Given the description of an element on the screen output the (x, y) to click on. 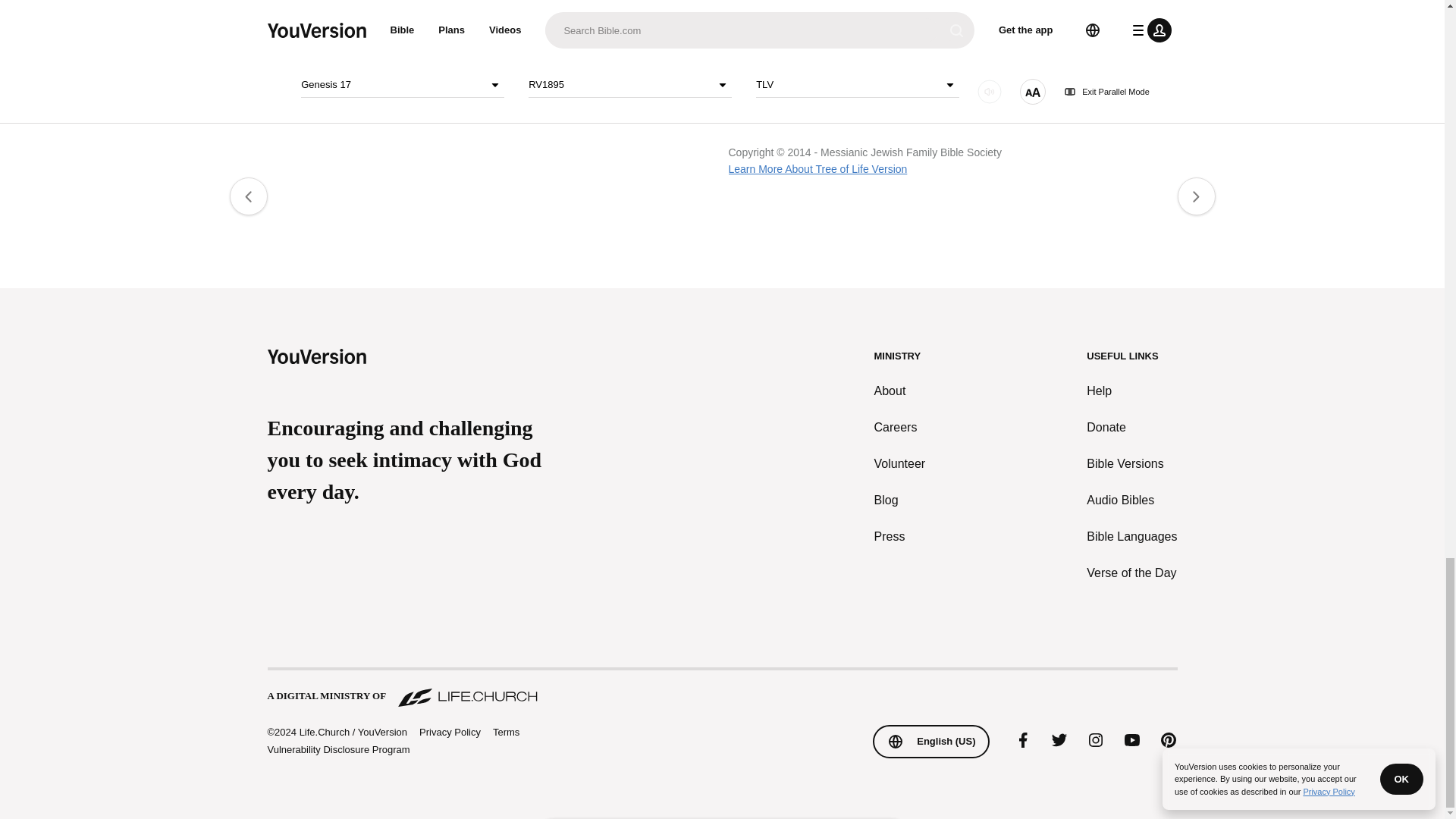
Learn More About Tree of Life Version (817, 168)
Privacy Policy (449, 732)
Verse of the Day (1131, 573)
About (900, 391)
Vulnerability Disclosure Program (337, 749)
Help (1131, 391)
Press (900, 536)
Blog (900, 500)
Bible Languages (1131, 536)
Donate (1131, 427)
Audio Bibles (1131, 500)
Terms (506, 731)
Careers (900, 427)
A DIGITAL MINISTRY OF (721, 688)
Volunteer (900, 464)
